Given the description of an element on the screen output the (x, y) to click on. 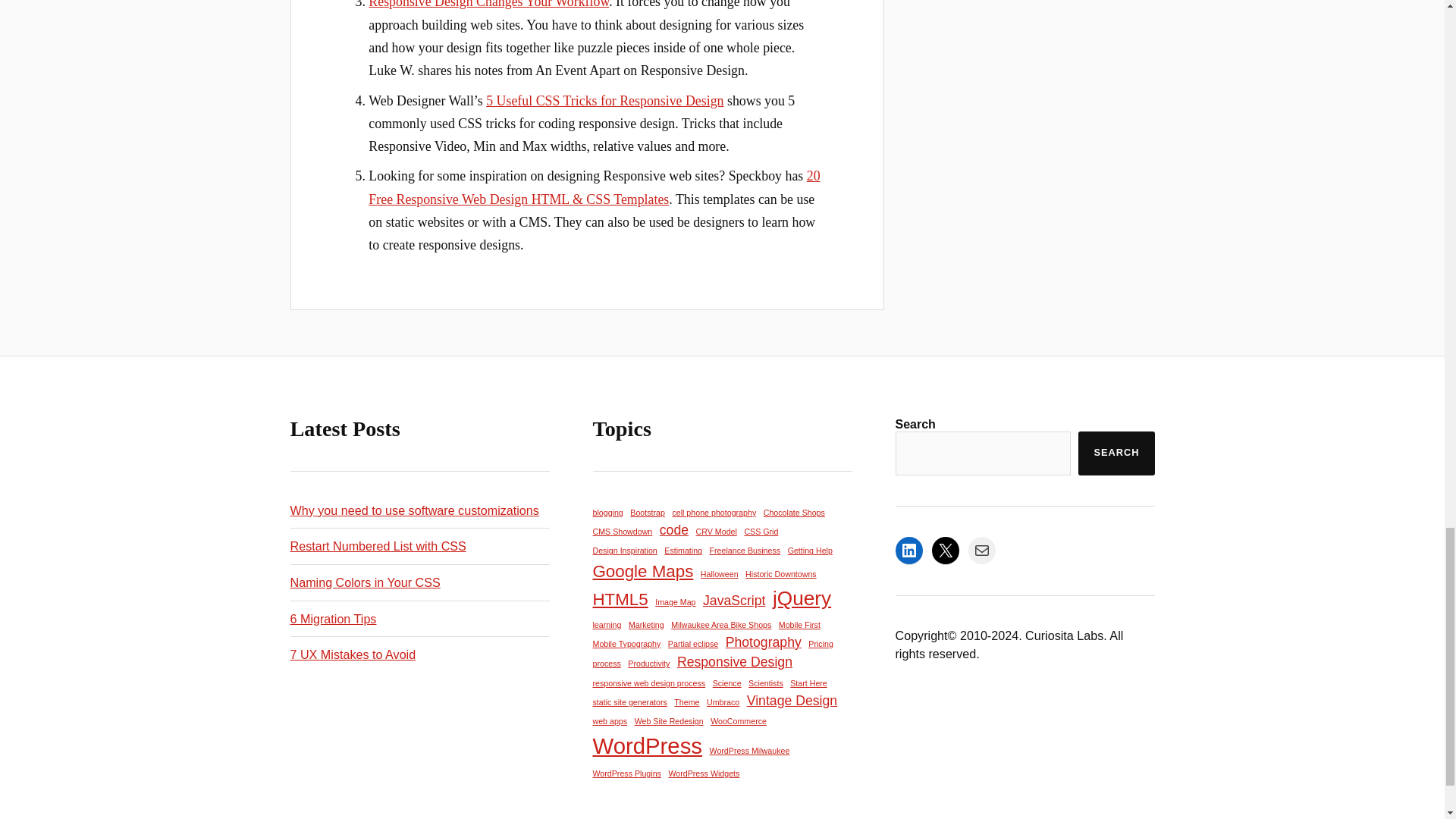
Responsive Design Changes Your Workflow (488, 4)
6 Migration Tips (332, 618)
Restart Numbered List with CSS (377, 545)
Why you need to use software customizations (413, 509)
CMS Showdown (622, 531)
Bootstrap (647, 512)
cell phone photography (713, 512)
7 UX Mistakes to Avoid (351, 653)
blogging (607, 512)
5 Useful CSS Tricks for Responsive Design (604, 99)
Chocolate Shops (793, 512)
Naming Colors in Your CSS (364, 581)
